Given the description of an element on the screen output the (x, y) to click on. 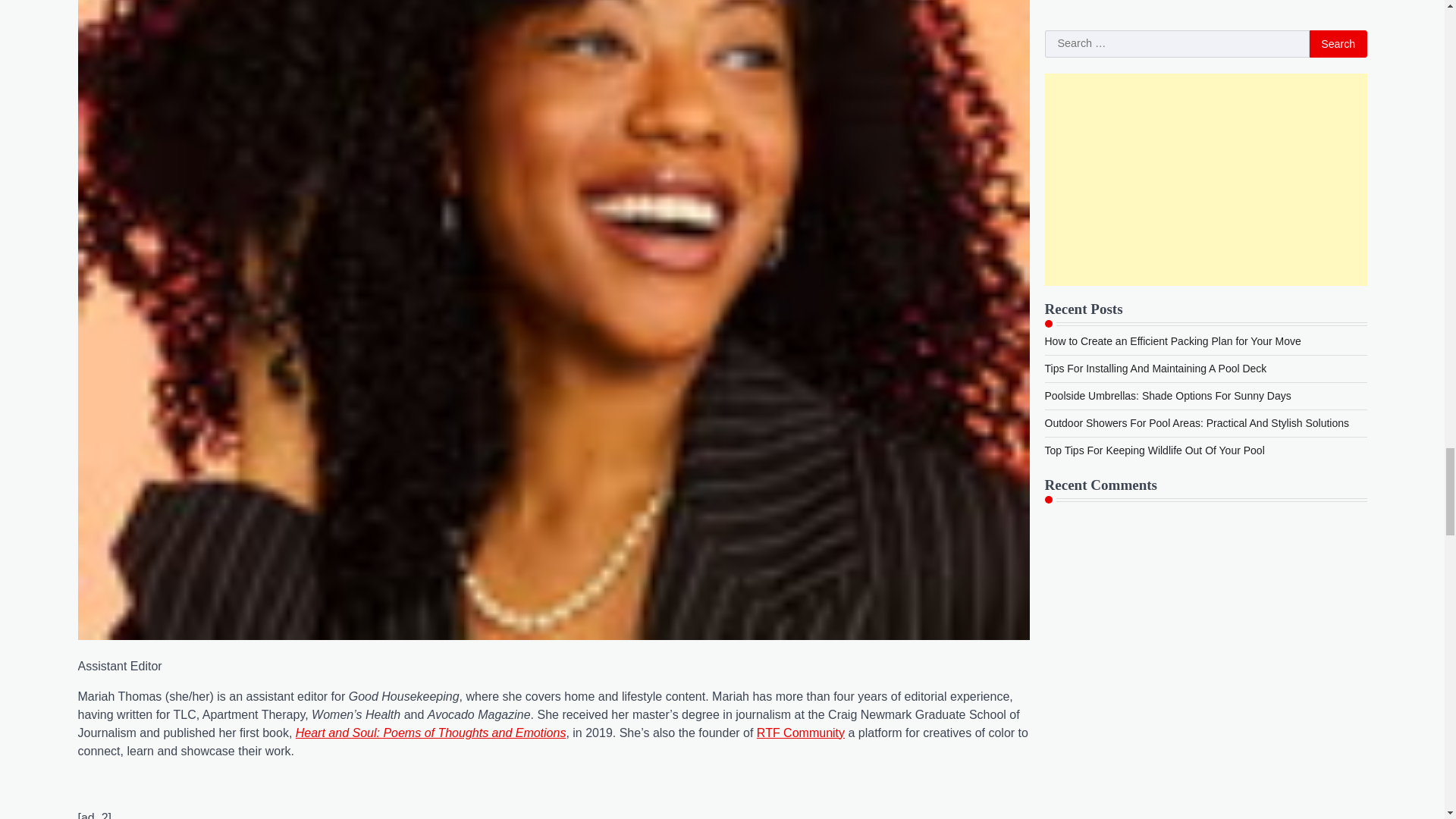
RTF Community (800, 732)
Heart and Soul: Poems of Thoughts and Emotions (430, 732)
